Given the description of an element on the screen output the (x, y) to click on. 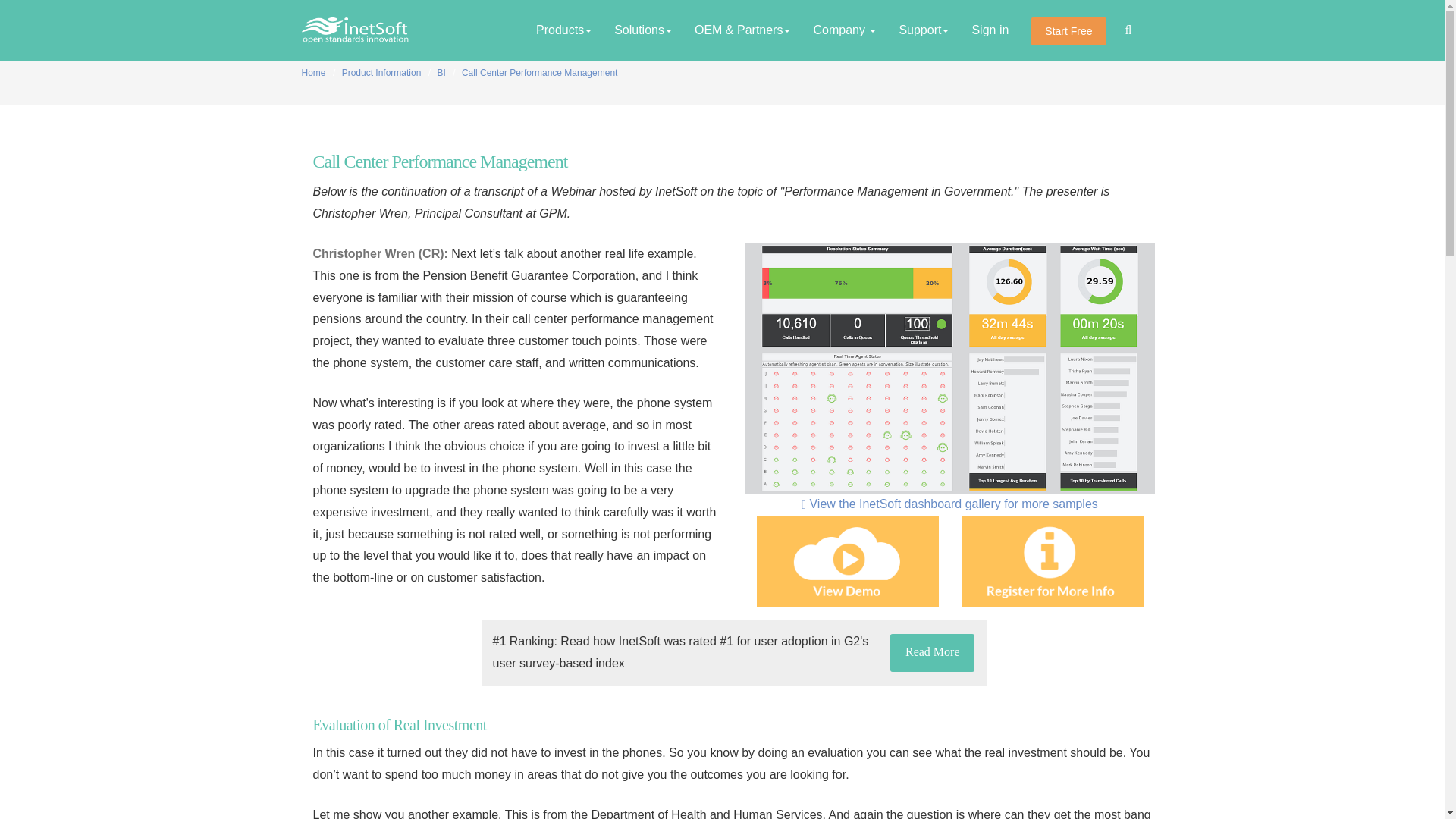
View More Examples (949, 503)
Register for pricing and a personalized demo (1051, 560)
Solutions (642, 30)
Start Free (1067, 31)
View a 2-minute demo (848, 560)
Products (563, 30)
